Given the description of an element on the screen output the (x, y) to click on. 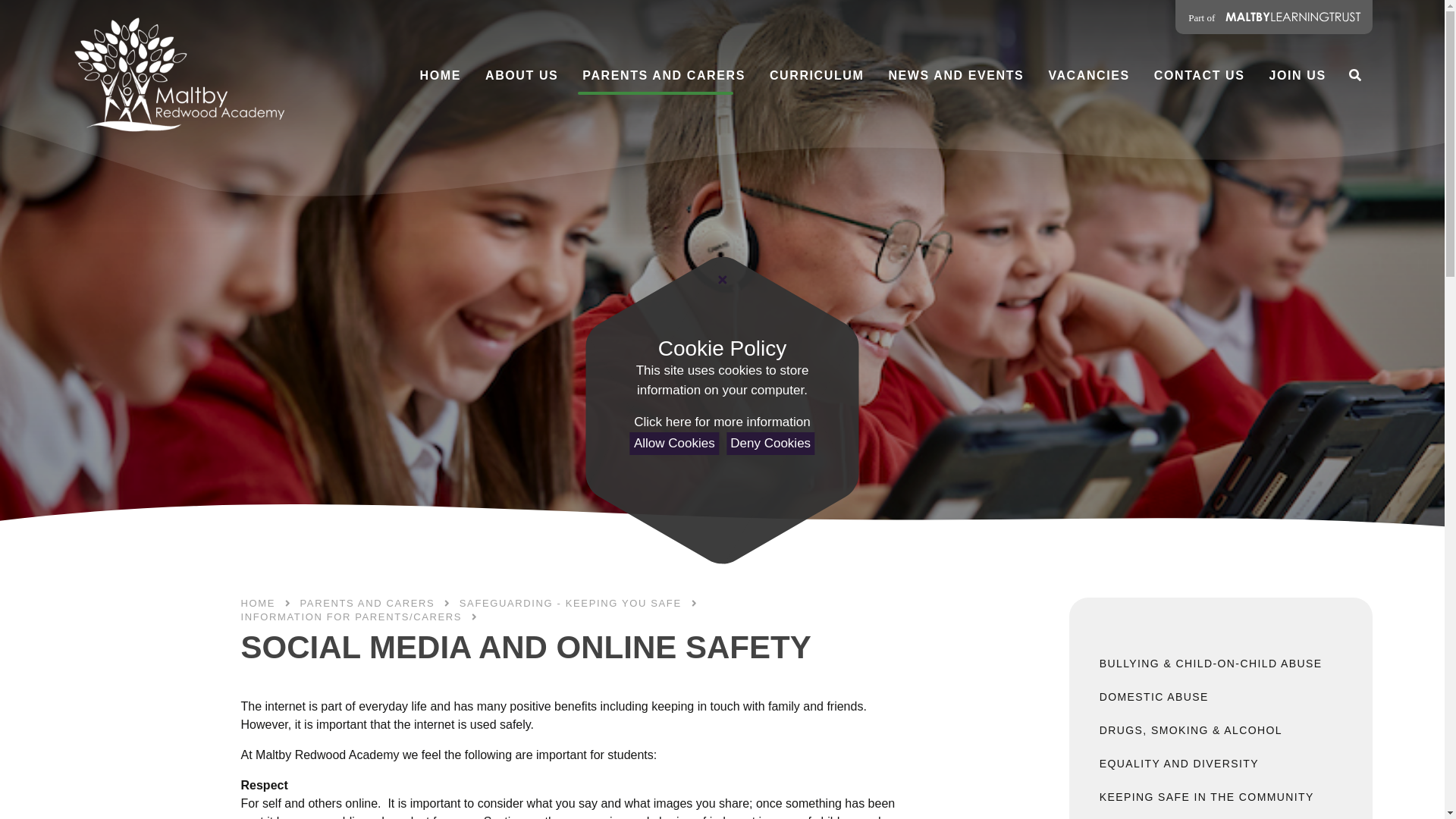
HOME (440, 75)
Deny Cookies (769, 443)
See cookie policy (721, 422)
ABOUT US (521, 75)
PARENTS AND CARERS (663, 75)
Allow Cookies (674, 443)
